Given the description of an element on the screen output the (x, y) to click on. 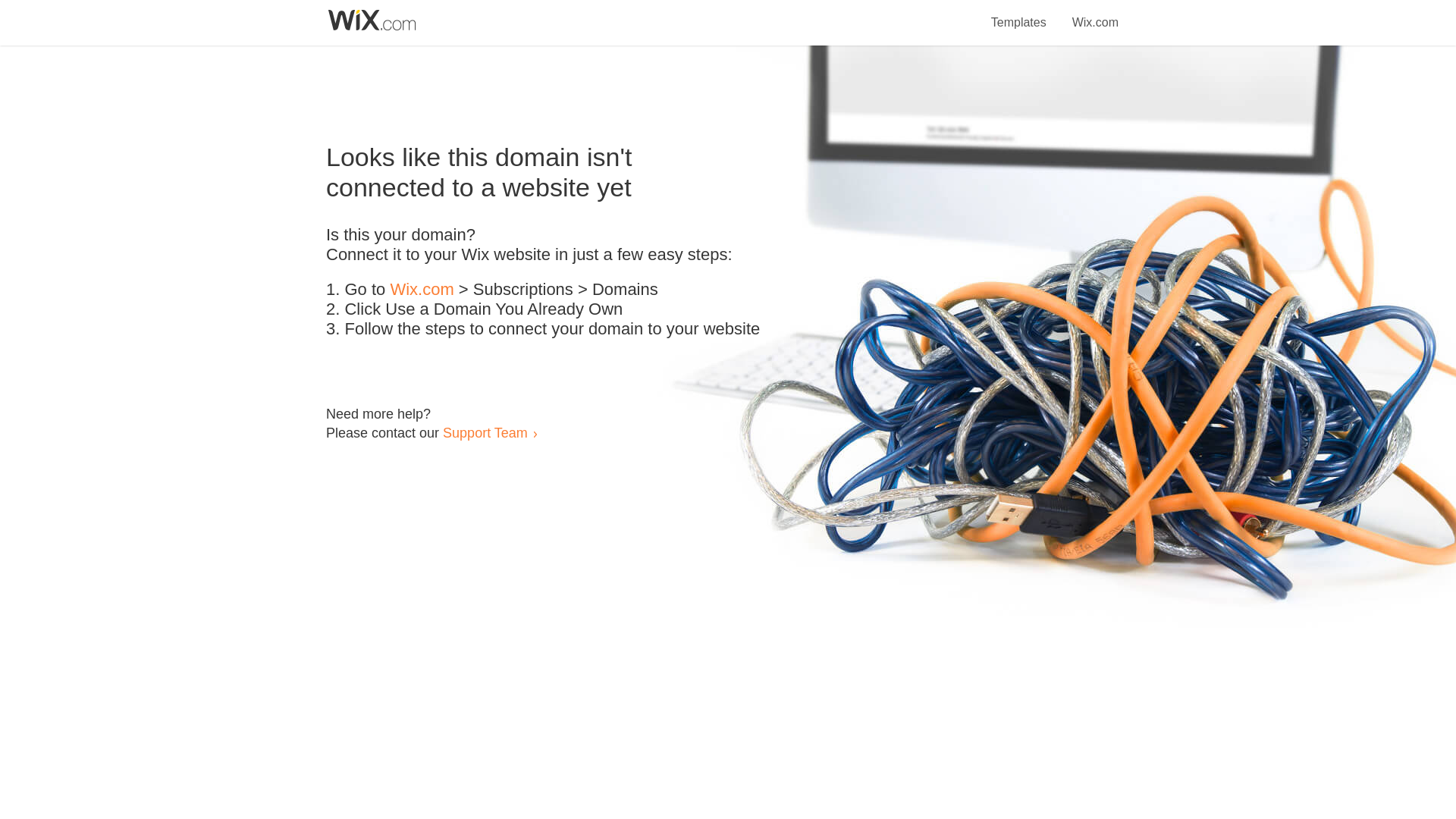
Support Team (484, 432)
Templates (1018, 14)
Wix.com (421, 289)
Wix.com (1095, 14)
